Given the description of an element on the screen output the (x, y) to click on. 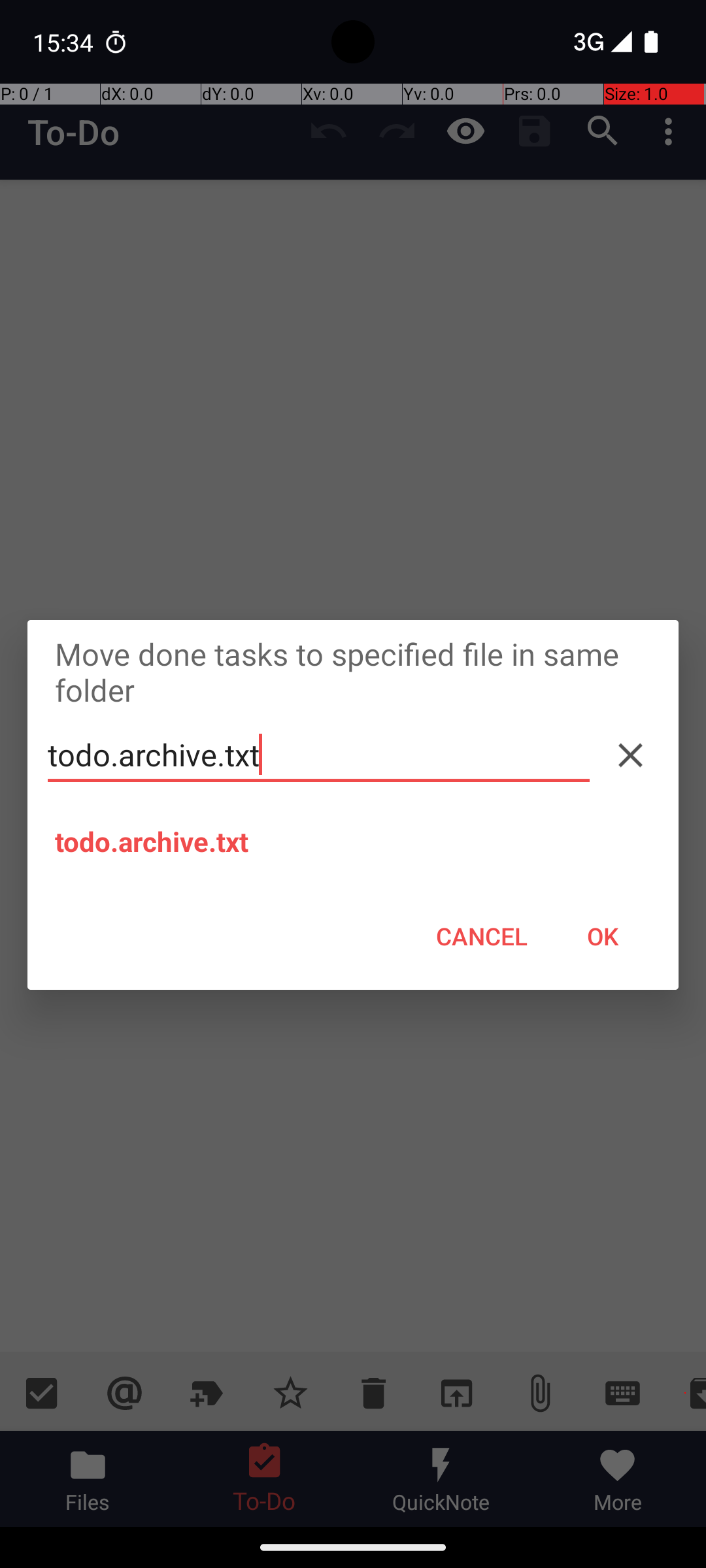
Move done tasks to specified file in same folder Element type: android.widget.TextView (352, 671)
todo.archive.txt Element type: android.widget.EditText (318, 754)
